Given the description of an element on the screen output the (x, y) to click on. 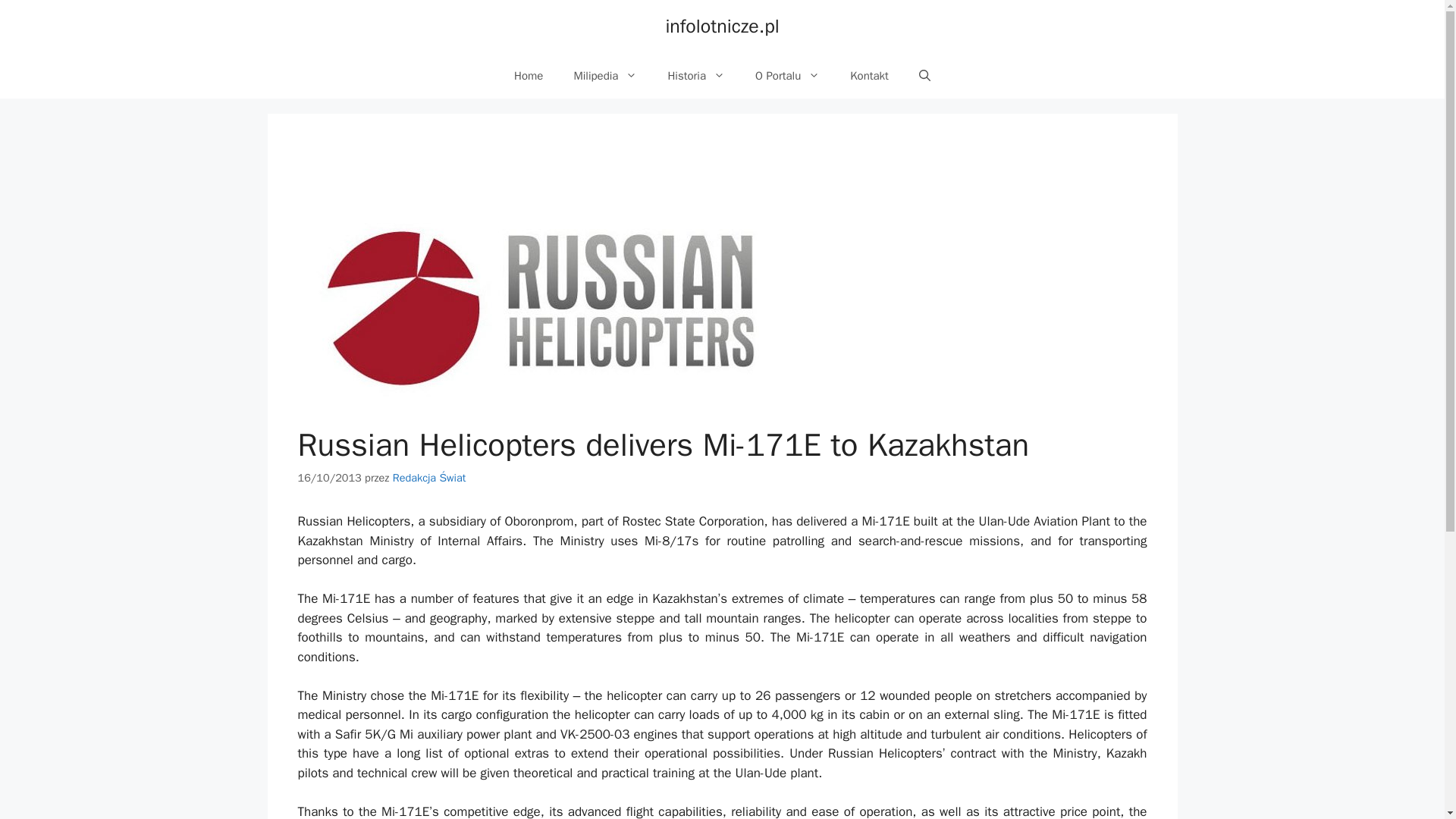
O Portalu (786, 75)
Home (528, 75)
infolotnicze.pl (721, 25)
Kontakt (869, 75)
Historia (695, 75)
Milipedia (604, 75)
